Given the description of an element on the screen output the (x, y) to click on. 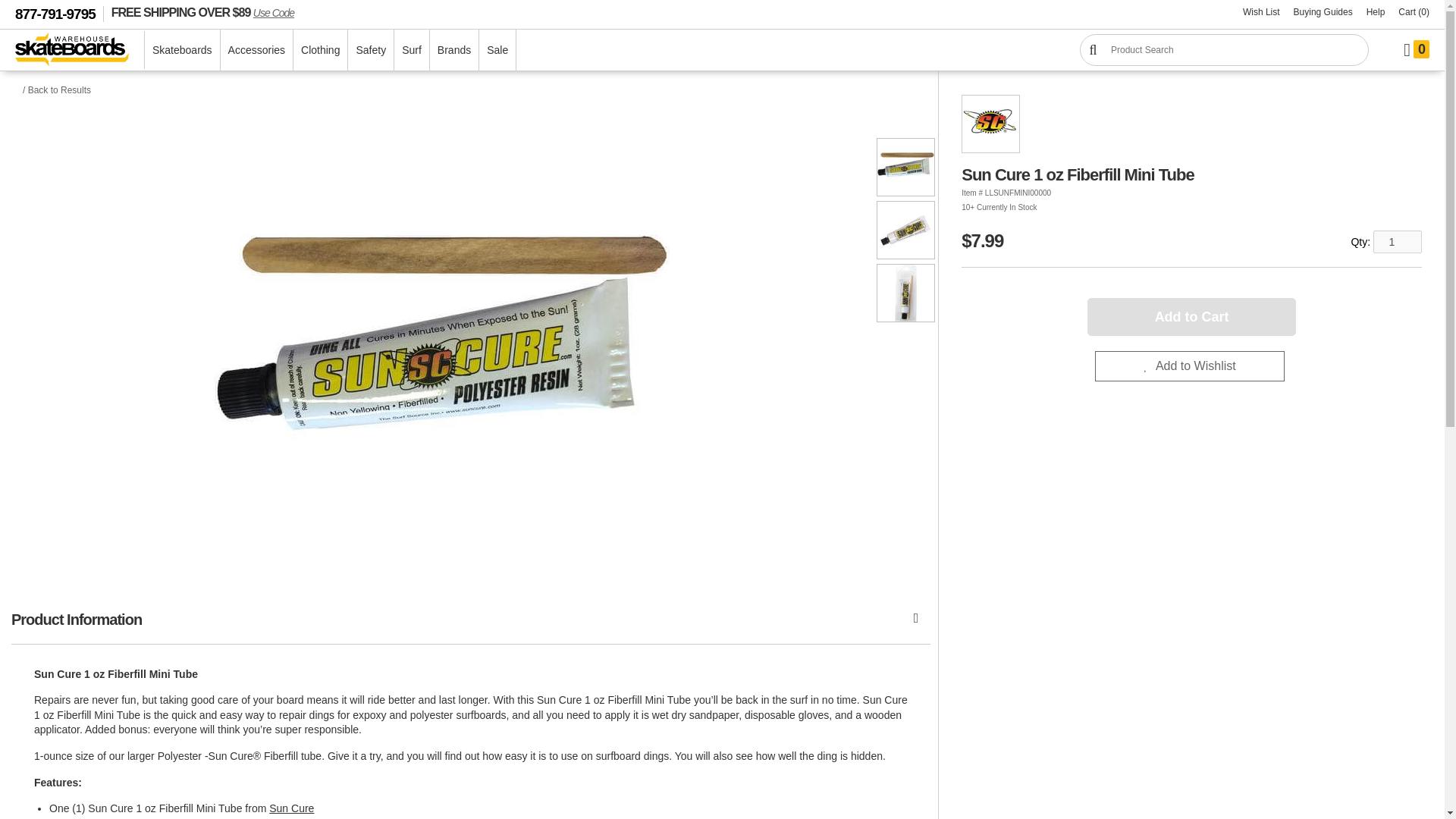
Contact Warehouse Skateboards Customer Service (1375, 12)
Everything you need to know about Skateboards (1323, 12)
View Your Wish List (1261, 12)
Help (1375, 12)
Skateboards (181, 49)
Wish List (1261, 12)
Accessories (256, 49)
Give us a call at 1-877-791-9795 (58, 13)
877-791-9795 (58, 13)
